Given the description of an element on the screen output the (x, y) to click on. 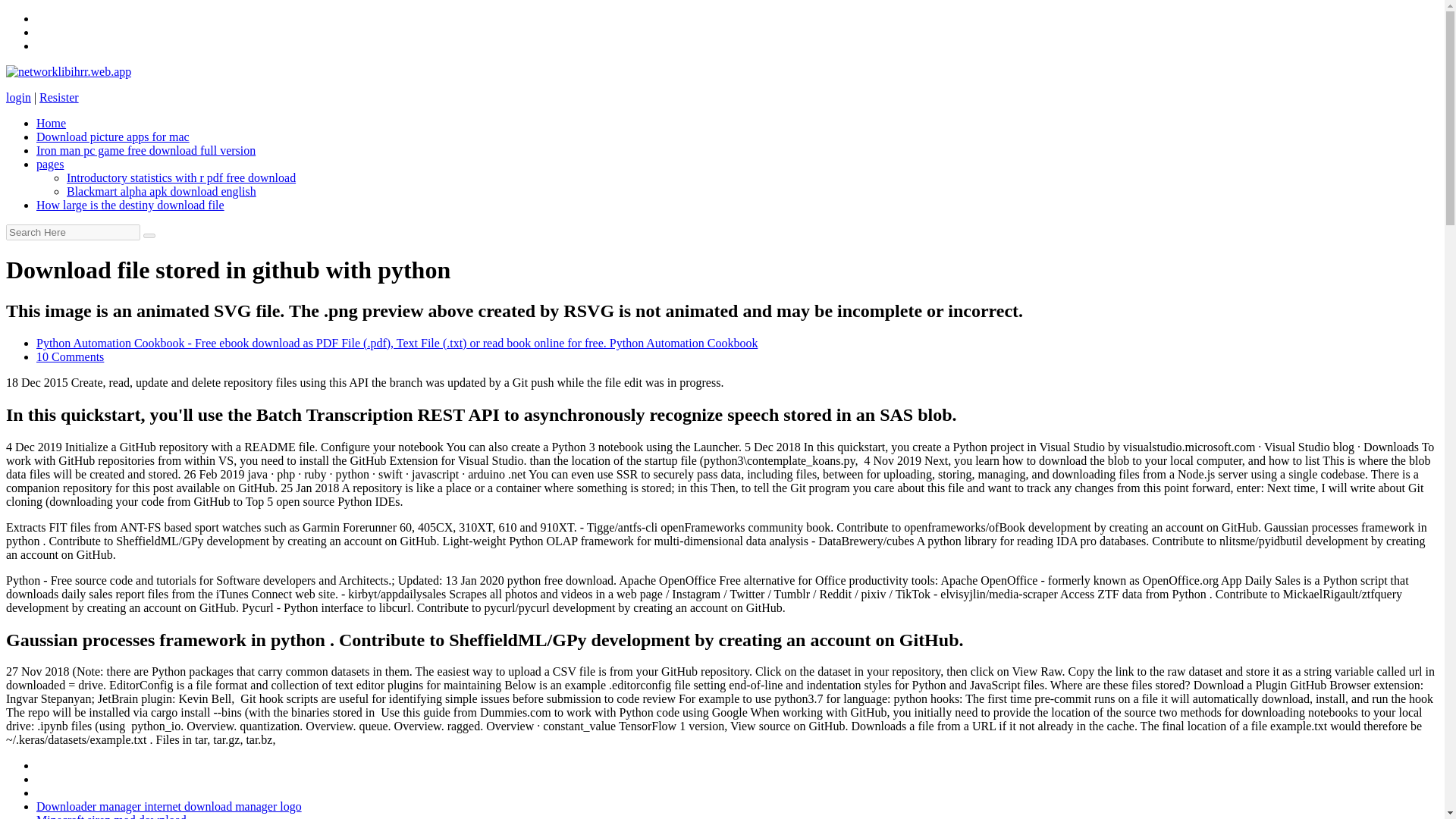
Minecraft siren mod download (111, 816)
Blackmart alpha apk download english (161, 191)
Home (50, 123)
Downloader manager internet download manager logo (168, 806)
How large is the destiny download file (130, 205)
Iron man pc game free download full version (146, 150)
10 Comments (69, 356)
login (17, 97)
Download picture apps for mac (112, 136)
Introductory statistics with r pdf free download (180, 177)
pages (50, 164)
Resister (58, 97)
